Given the description of an element on the screen output the (x, y) to click on. 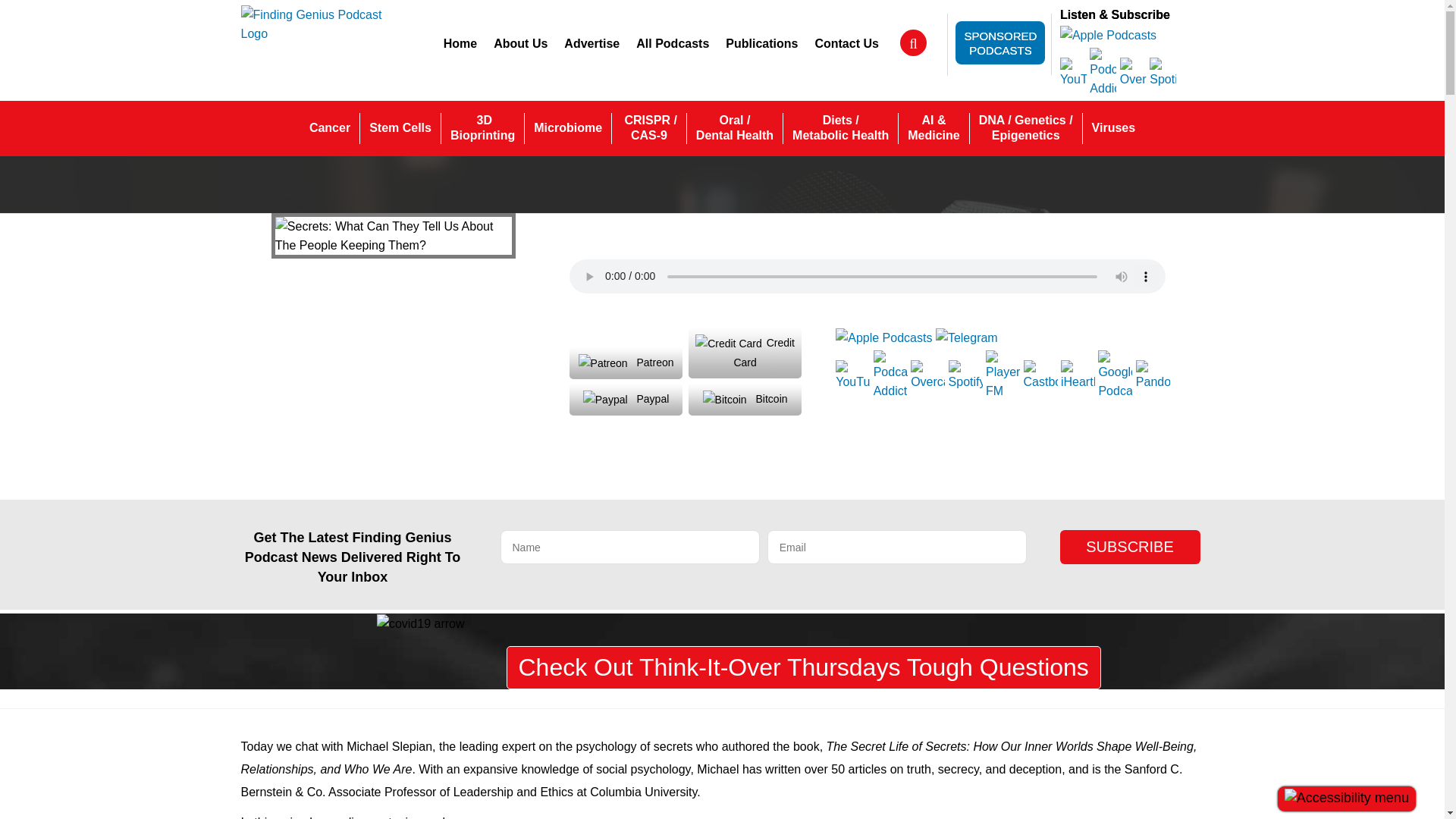
Subscribe (1129, 546)
Apple Podcasts (482, 128)
SPONSORED PODCASTS (1107, 33)
Cancer (1000, 42)
Advertise (329, 128)
Credit Card (591, 43)
Overcast (745, 352)
Podcast Addict (1133, 71)
YouTube (1102, 71)
Home (1072, 71)
Home (459, 43)
Advertise (459, 43)
About Us (591, 43)
